Given the description of an element on the screen output the (x, y) to click on. 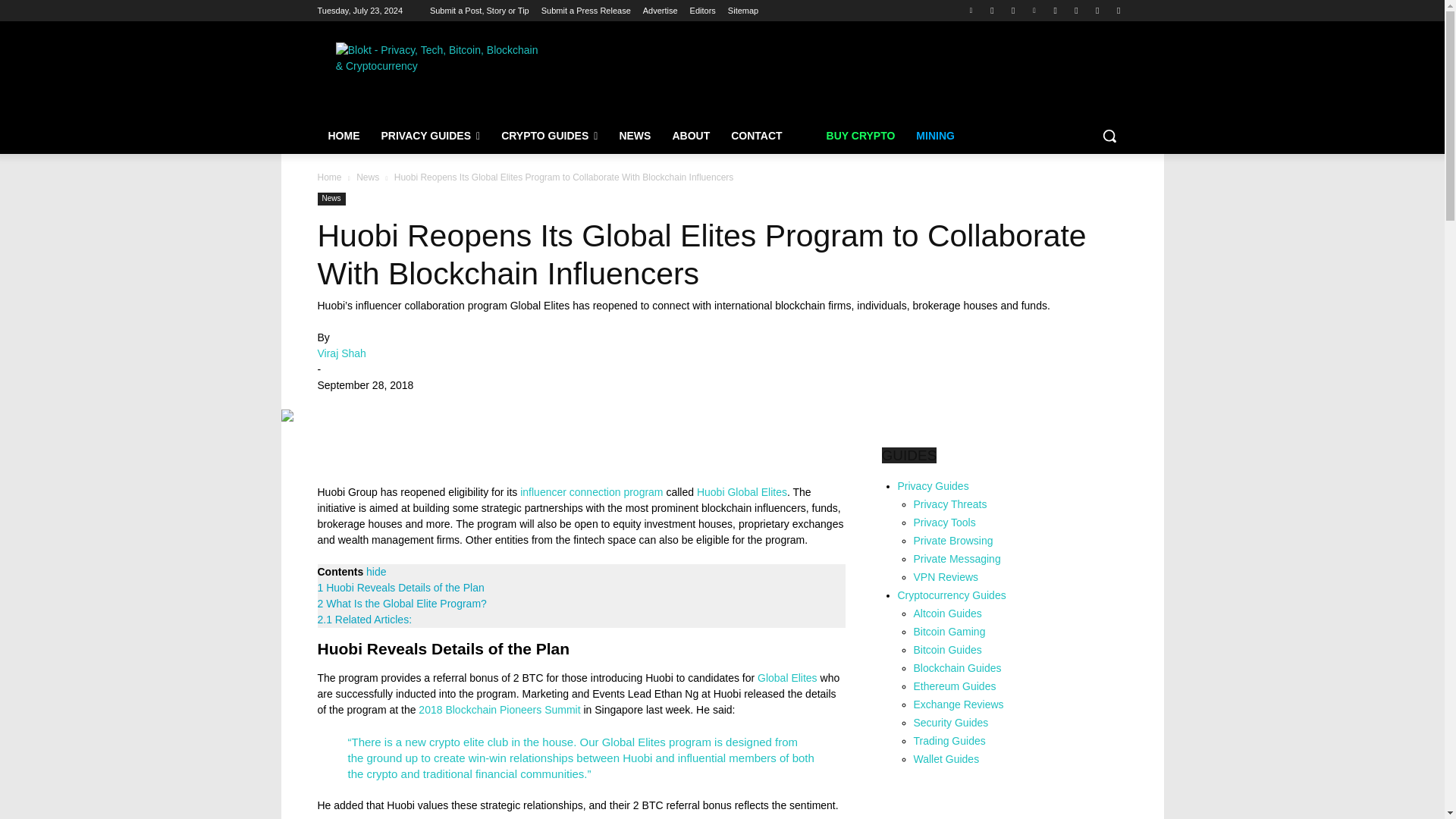
Reddit (1097, 9)
Submit a Press Release (585, 10)
Instagram (1075, 9)
Facebook (992, 9)
Telegram (1013, 9)
Linkedin (1034, 9)
Submit a Post, Story or Tip (479, 10)
Advertise (660, 10)
Twitter (970, 9)
Youtube (1055, 9)
Editors (703, 10)
Sitemap (743, 10)
